Given the description of an element on the screen output the (x, y) to click on. 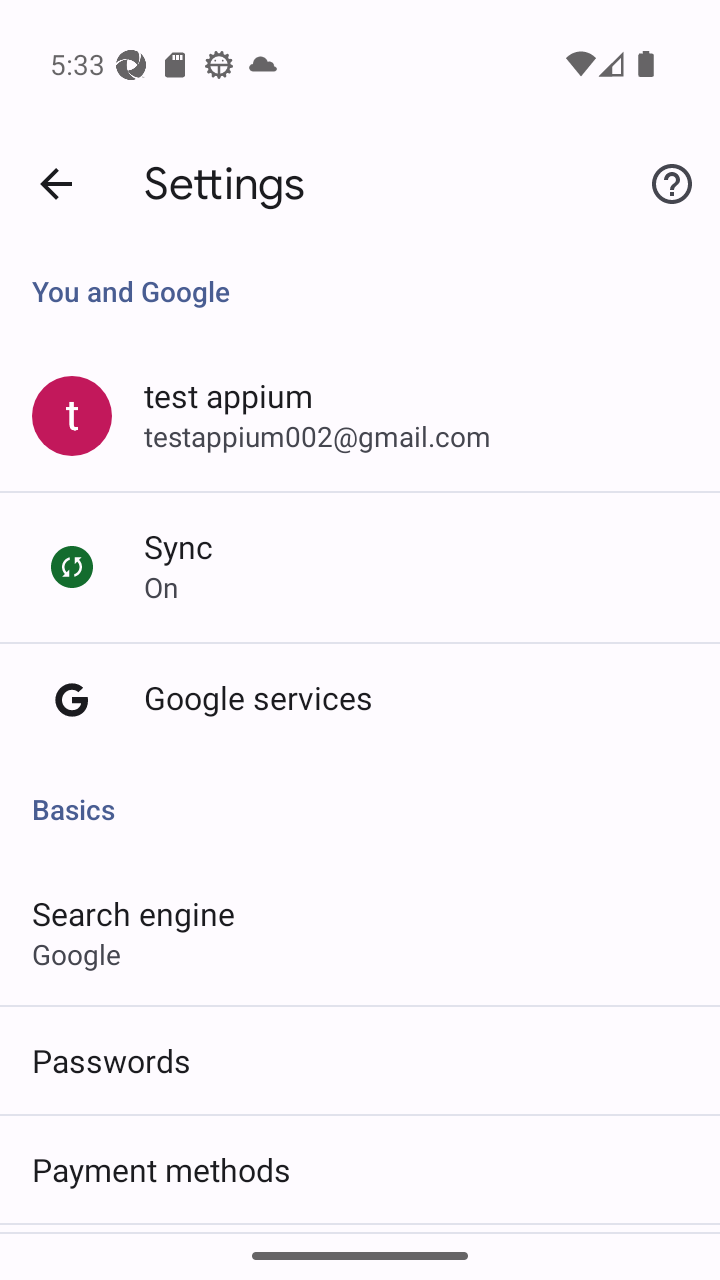
Navigate up (56, 184)
Help & feedback (672, 183)
test appium testappium002@gmail.com (360, 416)
Sync On (360, 567)
Google services (360, 699)
Search engine Google (360, 932)
Passwords (360, 1060)
Payment methods (360, 1169)
